Given the description of an element on the screen output the (x, y) to click on. 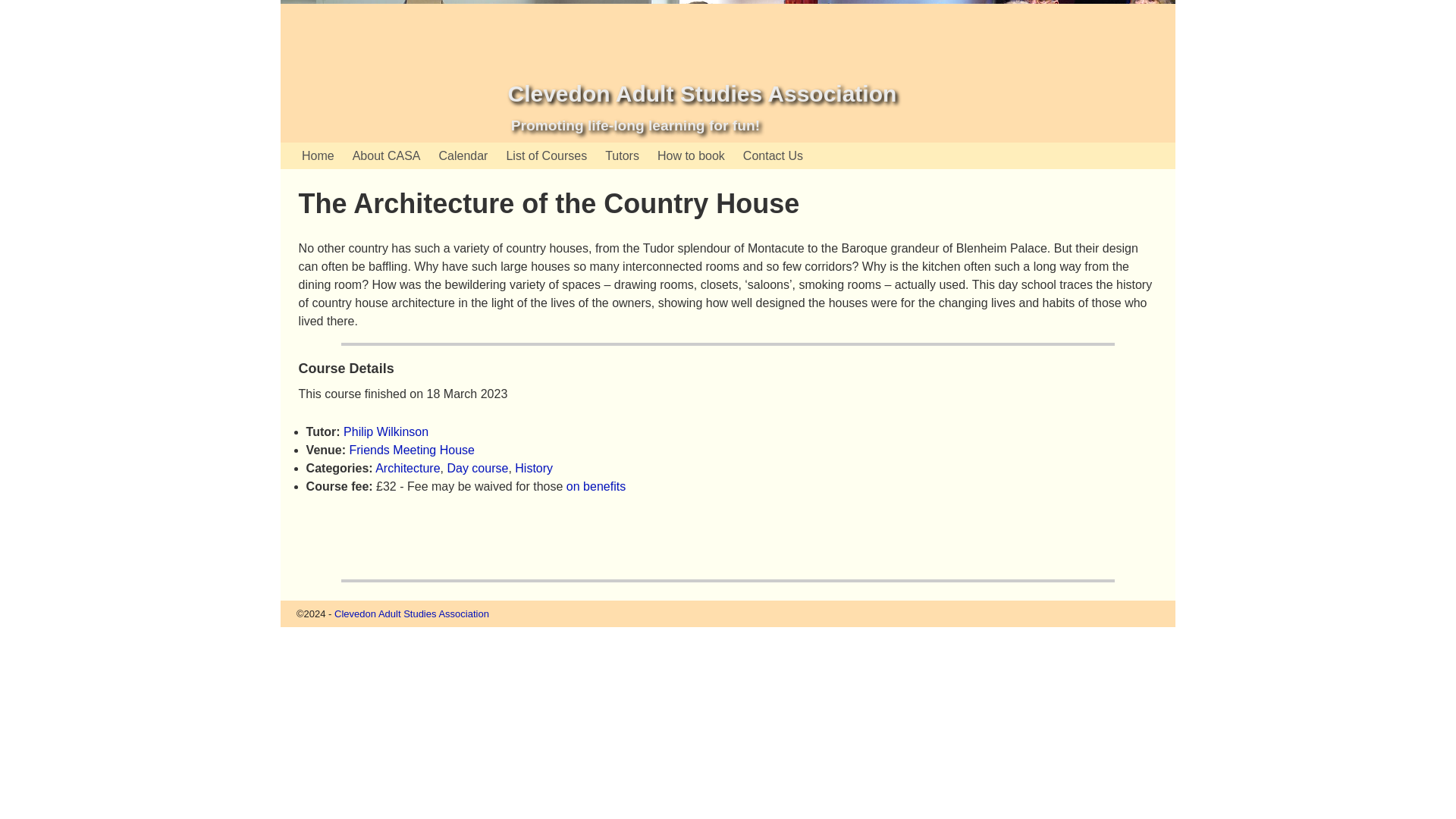
Day course (477, 468)
Architecture (407, 468)
Home (317, 155)
About CASA (386, 155)
Clevedon Adult Studies Association (411, 613)
Contact Us (772, 155)
on benefits (596, 486)
Clevedon Adult Studies Association (701, 93)
How to book (690, 155)
List of Courses (545, 155)
